Given the description of an element on the screen output the (x, y) to click on. 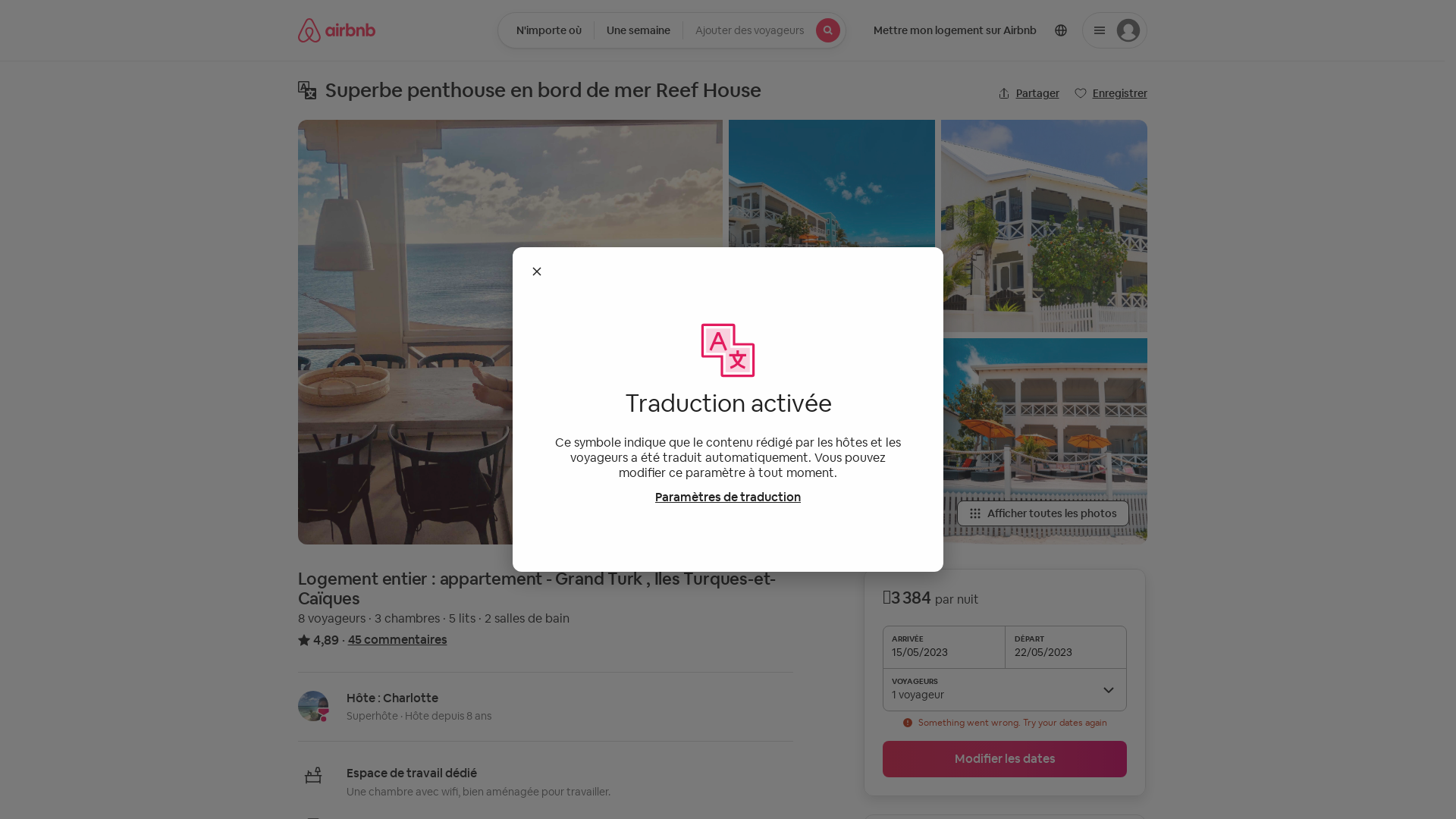
Voyageurs
Ajouter des voyageurs Element type: text (764, 30)
Afficher toutes les photos Element type: text (1043, 513)
Enregistrer Element type: text (1109, 93)
Mettre mon logement sur Airbnb Element type: text (954, 30)
Partager Element type: text (1028, 93)
Modifier les dates Element type: text (1004, 758)
45 commentaires Element type: text (396, 639)
